Given the description of an element on the screen output the (x, y) to click on. 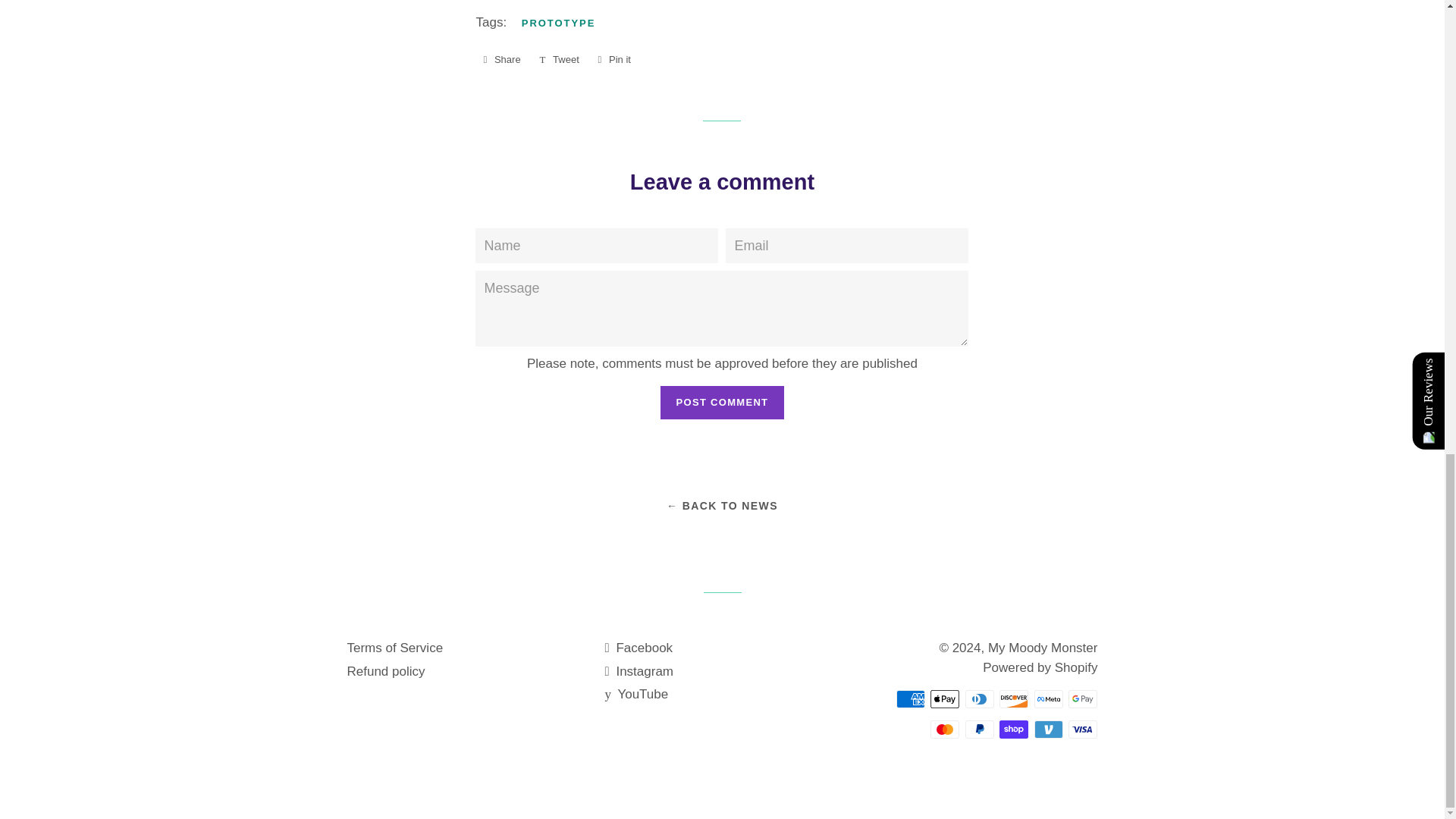
Mastercard (944, 729)
American Express (910, 699)
Share on Facebook (501, 59)
PayPal (979, 729)
Post comment (722, 402)
Meta Pay (1047, 699)
My Moody Monster on Instagram (638, 671)
Tweet on Twitter (558, 59)
Venmo (1047, 729)
Shop Pay (1012, 729)
Pin on Pinterest (613, 59)
Visa (1082, 729)
Discover (1012, 699)
My Moody Monster on Facebook (638, 647)
Diners Club (979, 699)
